Given the description of an element on the screen output the (x, y) to click on. 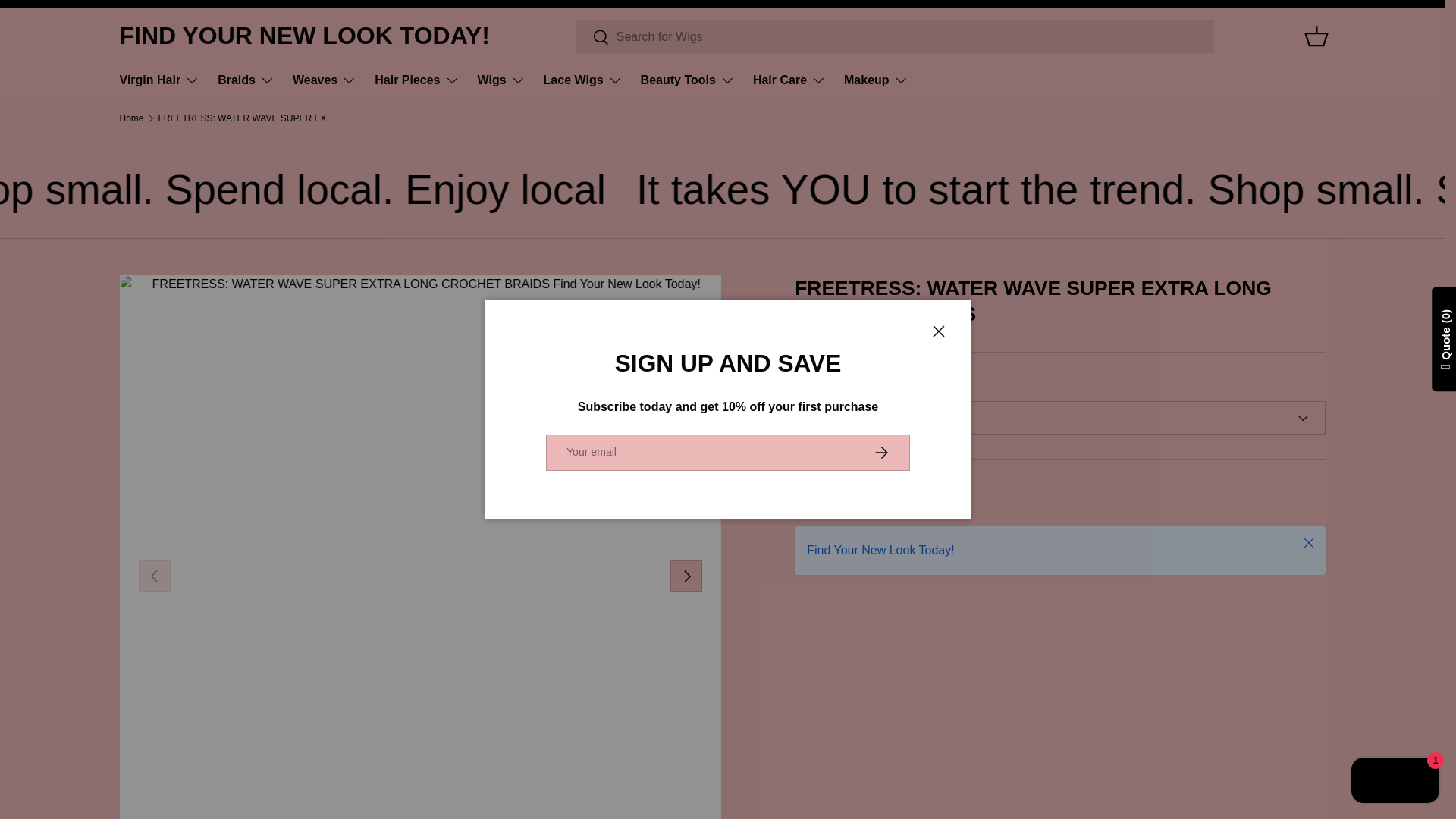
Wigs (501, 80)
Lace Wigs (583, 80)
Weaves (324, 80)
Hair Pieces (416, 80)
Shopify online store chat (1395, 781)
Search (592, 37)
Basket (1316, 36)
FIND YOUR NEW LOOK TODAY! (304, 36)
Braids (245, 80)
Virgin Hair (159, 80)
